Given the description of an element on the screen output the (x, y) to click on. 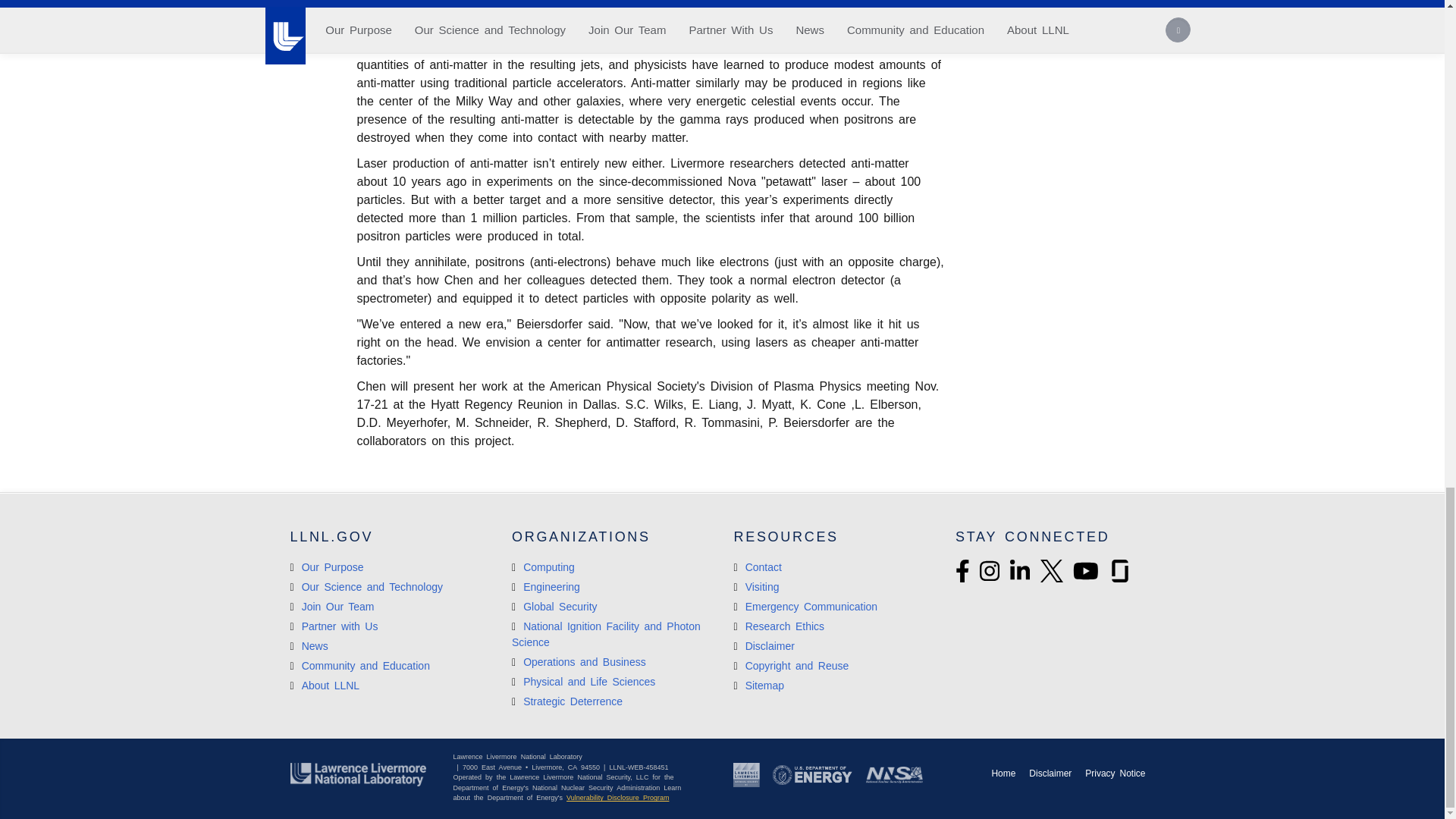
Engineering (545, 586)
Global Security (554, 606)
Partner with Us (333, 625)
Our Purpose (325, 567)
About (324, 685)
Community and Education (359, 665)
Computation (543, 567)
News (308, 645)
Science and Technology (365, 586)
Computation (579, 662)
Careers (331, 606)
Physical and Life Sciences (583, 681)
Lasers (606, 633)
